Given the description of an element on the screen output the (x, y) to click on. 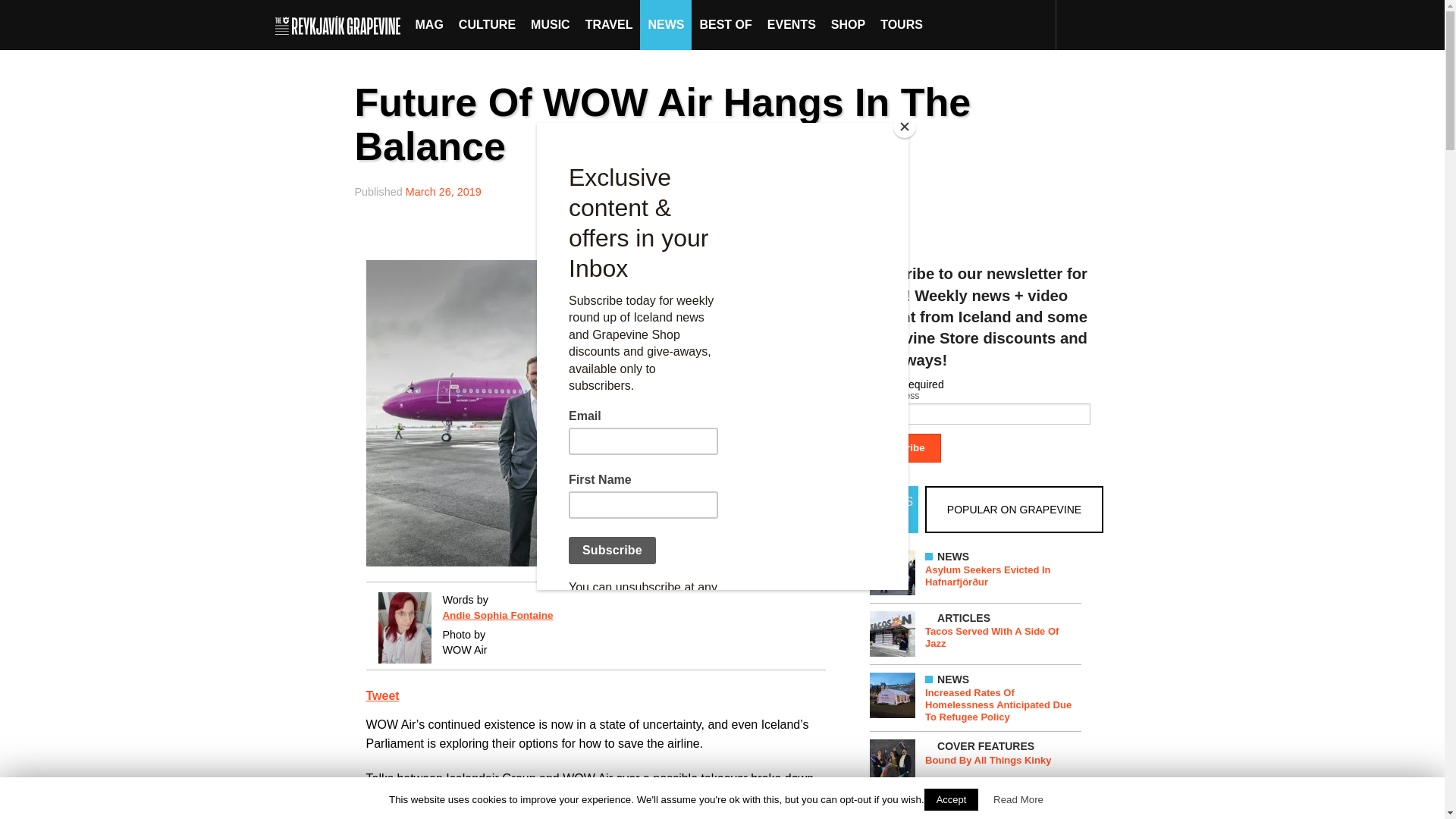
Subscribe (900, 448)
SHOP (848, 24)
NEWS (665, 24)
Andie Sophia Fontaine (497, 614)
CULTURE (486, 24)
BEST OF (724, 24)
MUSIC (550, 24)
Tweet (381, 695)
TOURS (901, 24)
EVENTS (792, 24)
Posts by Andie Sophia Fontaine (497, 614)
Kjarninn (753, 797)
The Reykjavik Grapevine (341, 24)
TRAVEL (609, 24)
